Given the description of an element on the screen output the (x, y) to click on. 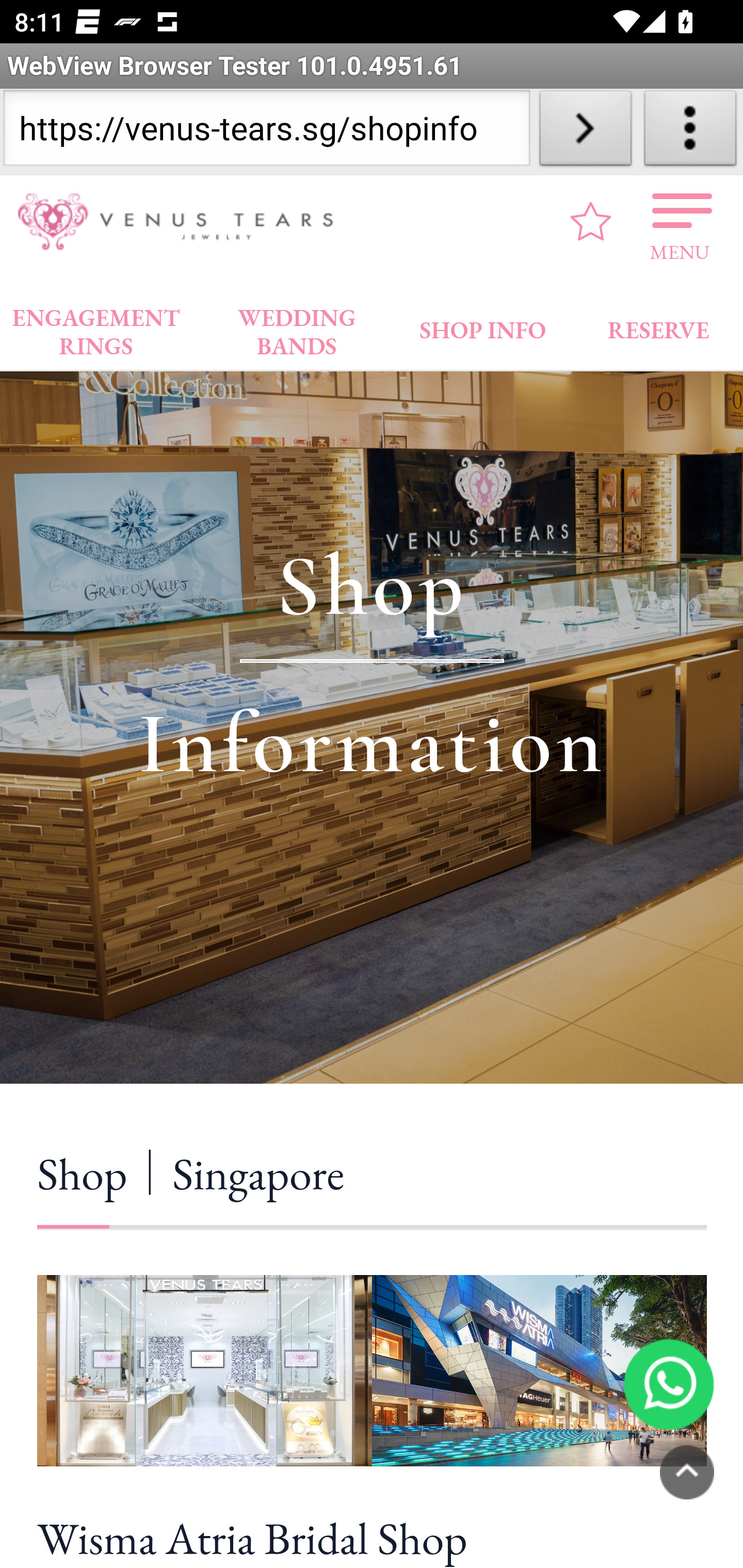
https://venus-tears.sg/shopinfo (266, 132)
Load URL (585, 132)
About WebView (690, 132)
favourite (591, 220)
MENU (680, 220)
VENUS TEARS (181, 221)
ENGAGEMENT RINGS ENGAGEMENT RINGS (96, 326)
WEDDING BANDS WEDDING BANDS (296, 326)
SHOP INFO (482, 325)
RESERVE (657, 325)
6585184875 (668, 1383)
PAGETOP (686, 1472)
Wisma Atria Bridal Shop (372, 1535)
